Given the description of an element on the screen output the (x, y) to click on. 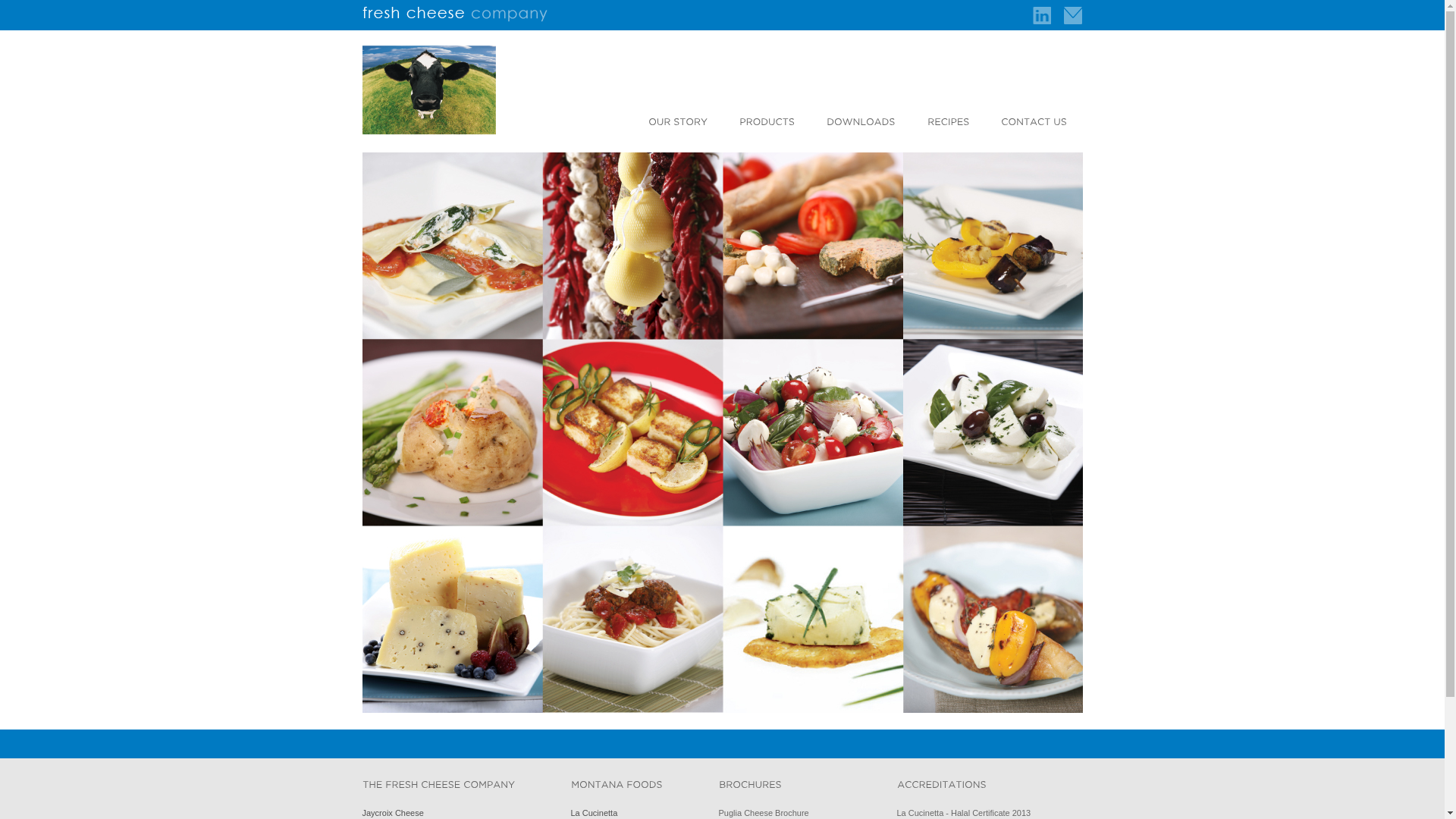
Email us! Element type: hover (1073, 15)
Puglia Cheese Brochure Element type: text (763, 812)
Join us on LinkedIn! Element type: hover (1037, 15)
La Cucinetta - Halal Certificate 2013 Element type: text (963, 812)
Jaycroix Cheese Element type: text (392, 812)
La Cucinetta Element type: text (593, 812)
